Given the description of an element on the screen output the (x, y) to click on. 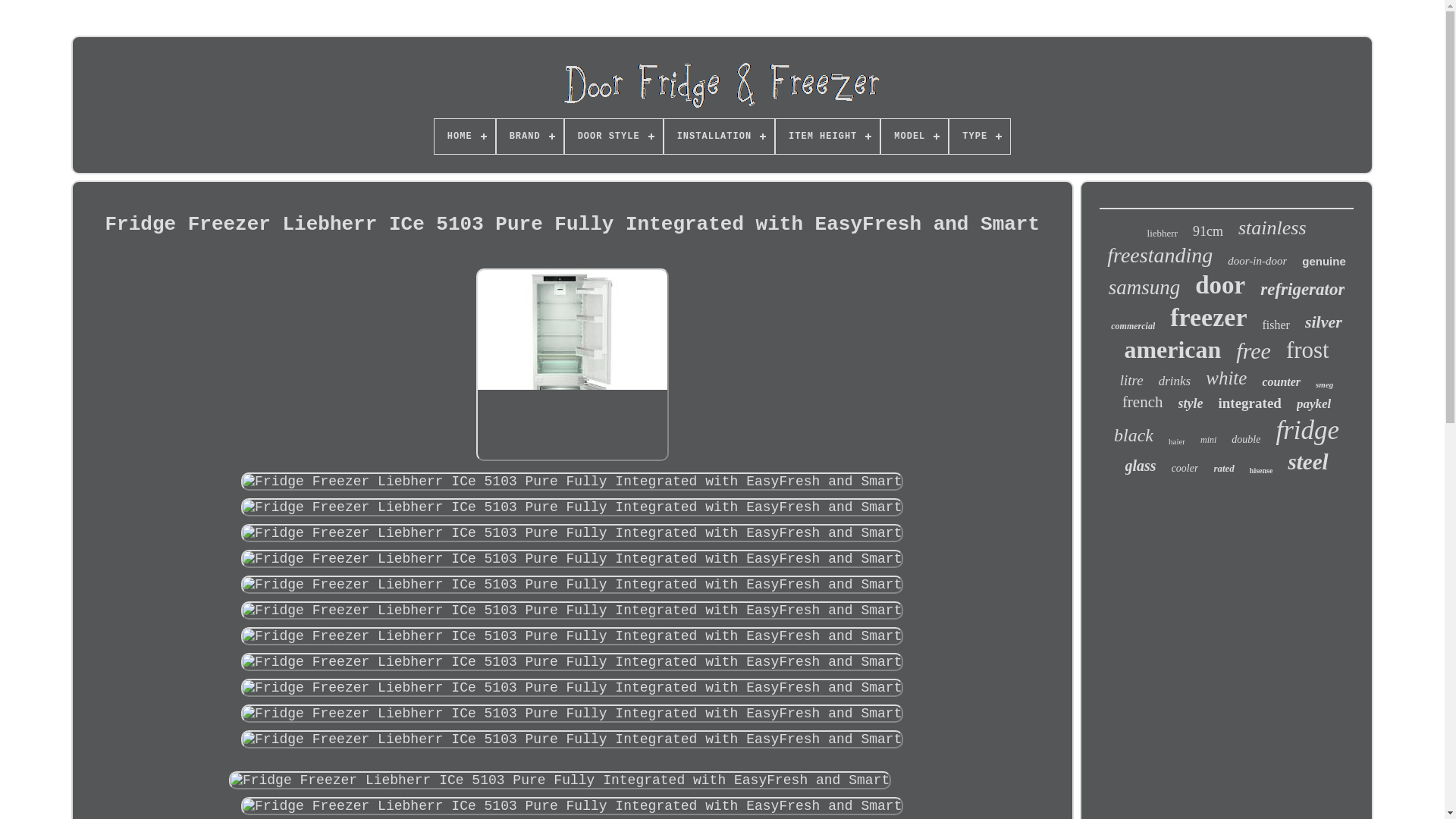
BRAND (529, 135)
DOOR STYLE (613, 135)
